Given the description of an element on the screen output the (x, y) to click on. 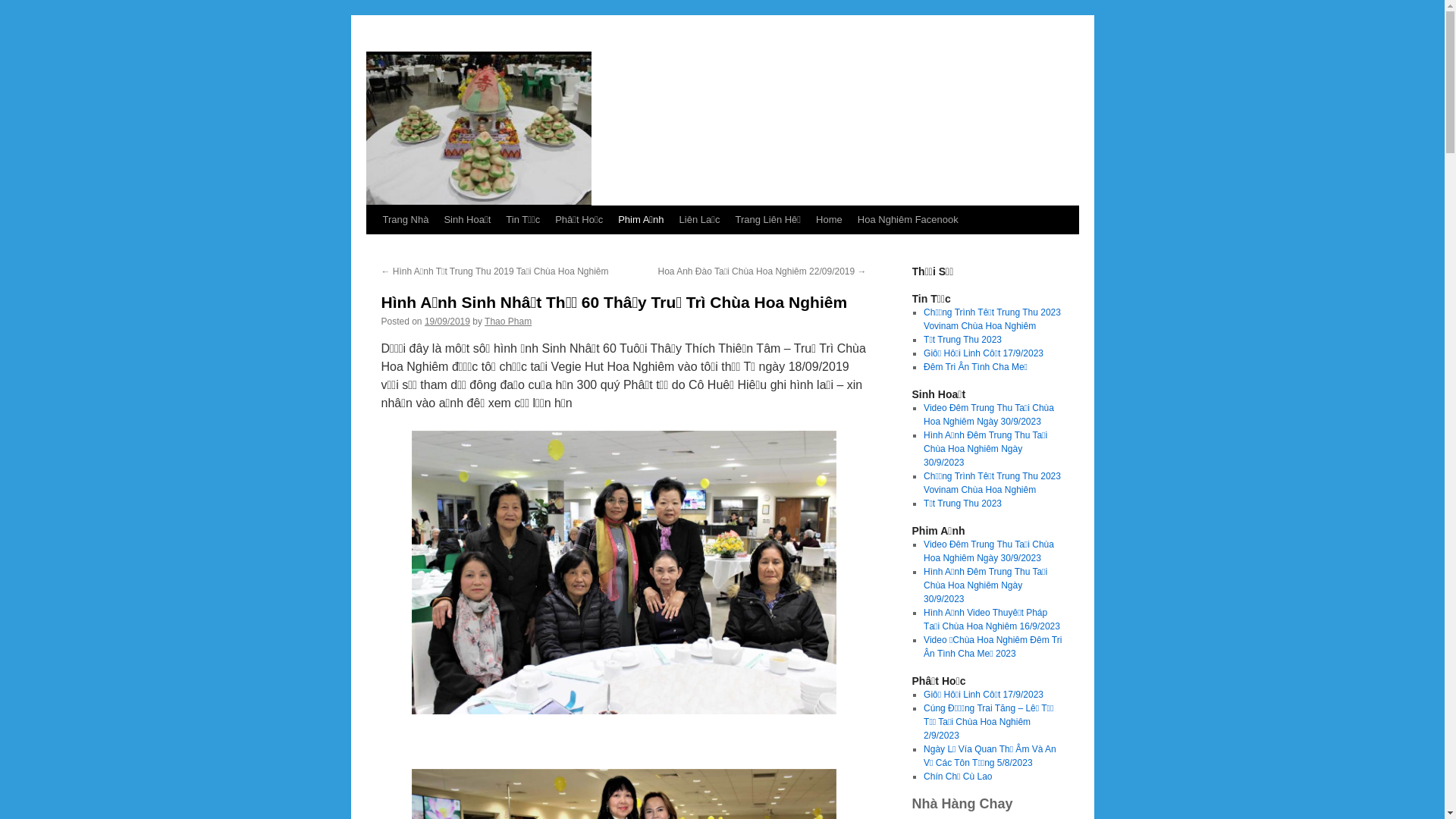
19/09/2019 Element type: text (447, 321)
Skip to content Element type: text (372, 247)
Thao Pham Element type: text (507, 321)
Home Element type: text (829, 219)
